Given the description of an element on the screen output the (x, y) to click on. 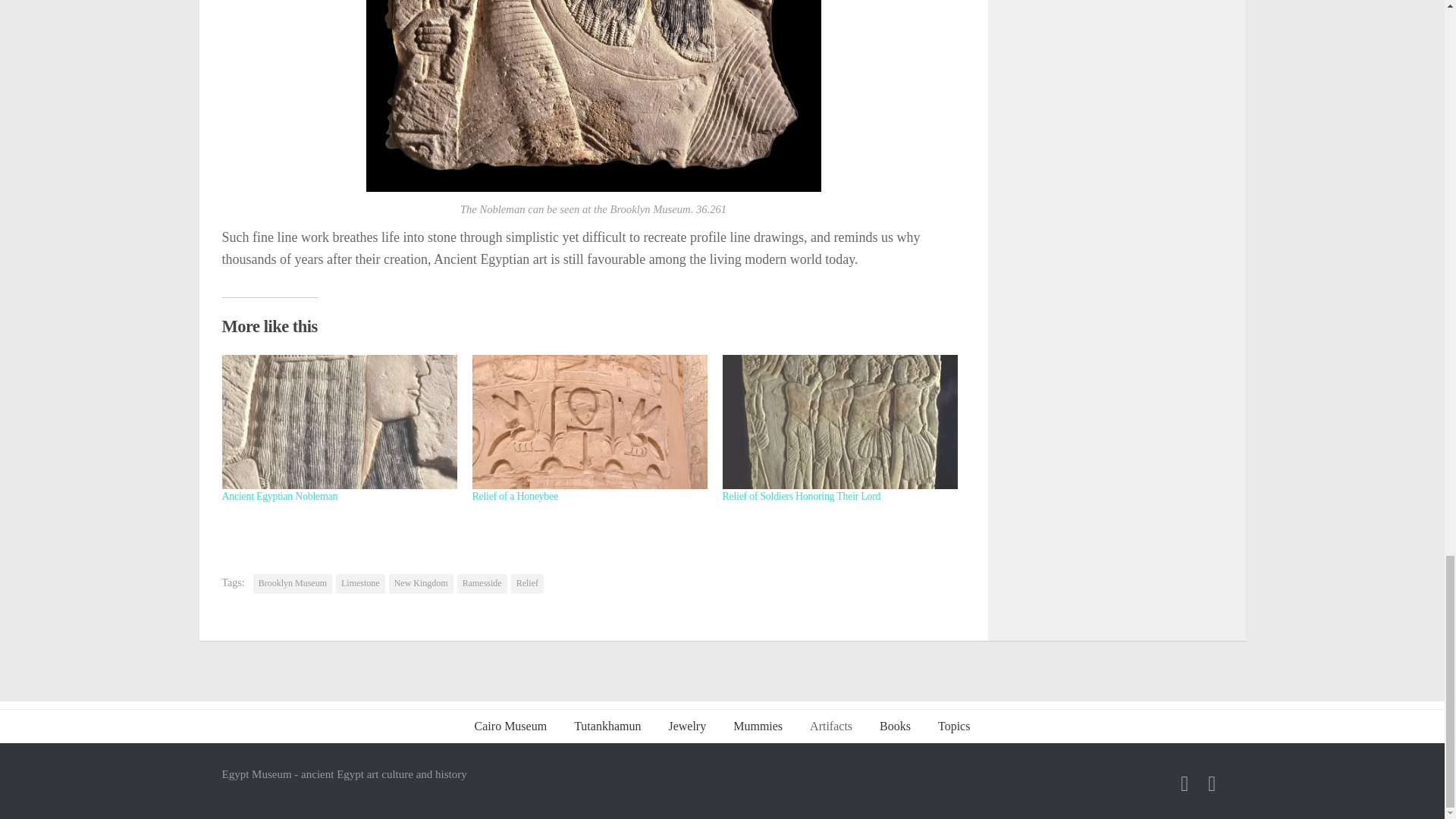
Relief of a Honeybee (588, 421)
Follow us on Facebook (1184, 783)
New Kingdom (420, 583)
Relief of Soldiers Honoring Their Lord (801, 496)
Brooklyn Museum (292, 583)
Ancient Egyptian Nobleman (279, 496)
Relief of Soldiers Honoring Their Lord (801, 496)
Ramesside (481, 583)
Relief of Soldiers Honoring Their Lord (839, 421)
Relief (527, 583)
